Given the description of an element on the screen output the (x, y) to click on. 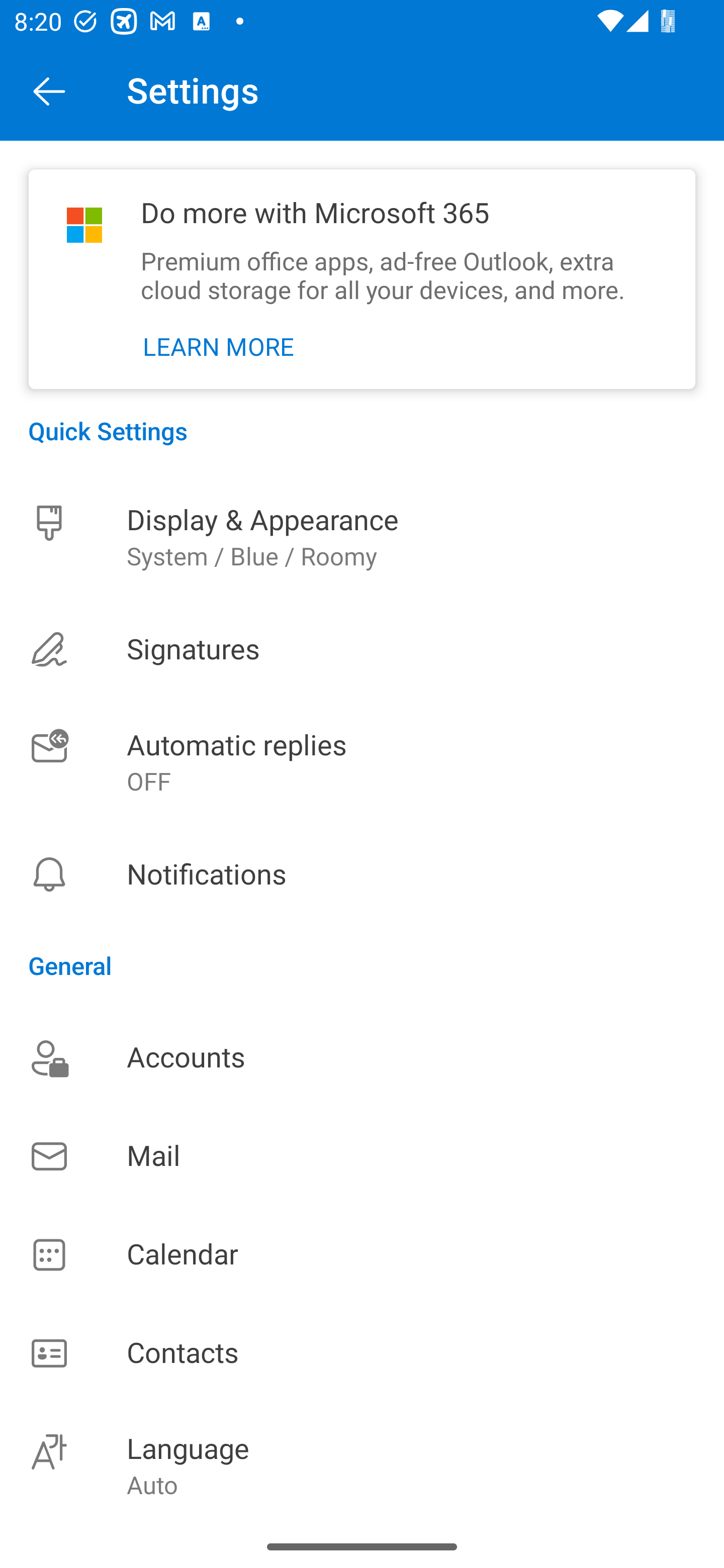
Back (49, 90)
LEARN MORE (218, 346)
Display & Appearance System / Blue / Roomy (362, 536)
Signatures (362, 649)
Automatic replies OFF (362, 762)
Notifications (362, 874)
Accounts (362, 1057)
Mail (362, 1156)
Calendar (362, 1254)
Contacts (362, 1353)
Language Auto (362, 1464)
